Given the description of an element on the screen output the (x, y) to click on. 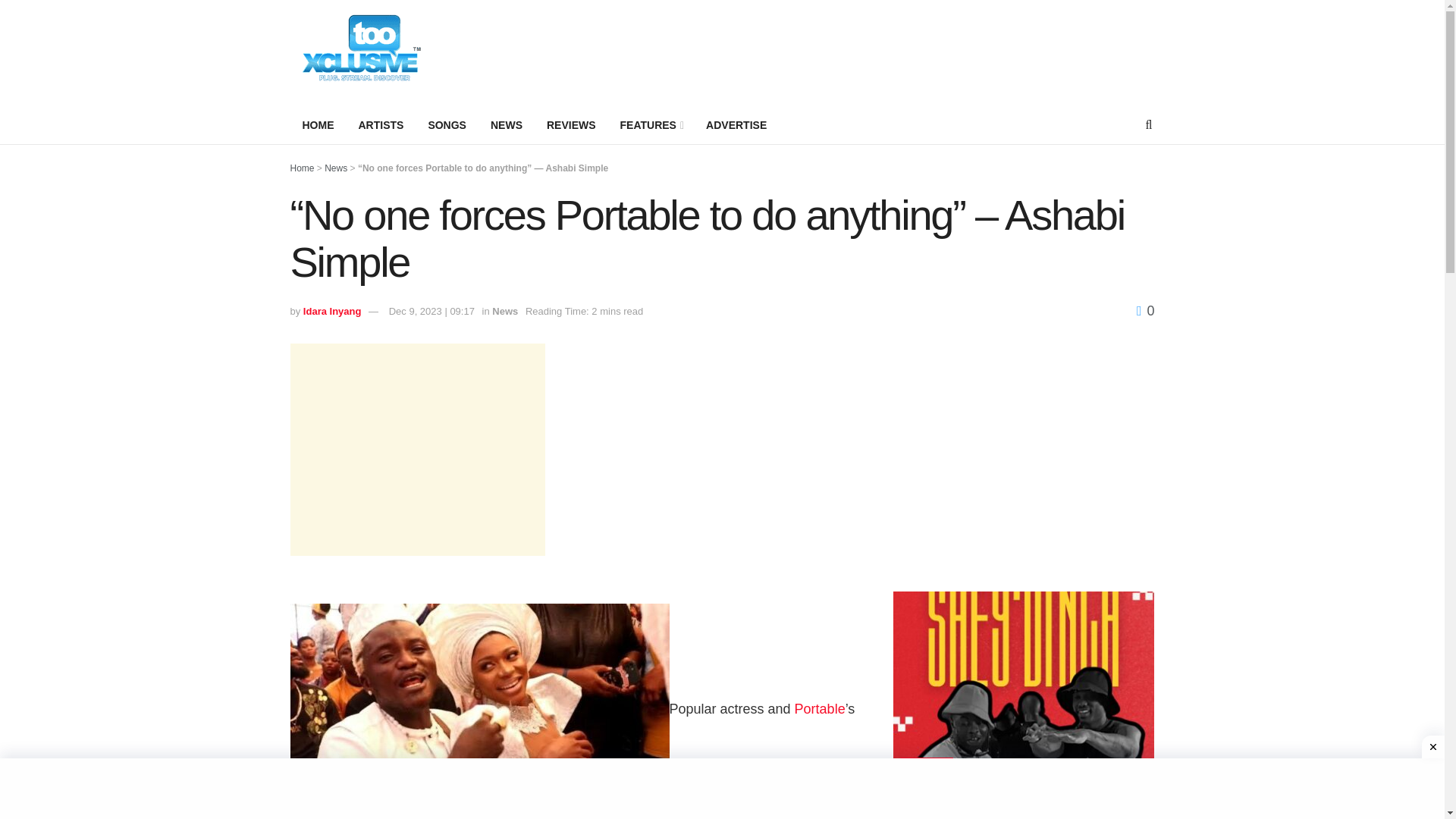
HOME (317, 125)
ADVERTISE (736, 125)
Home (301, 167)
Idara Inyang (331, 310)
Advertisement (1023, 449)
0 (1145, 310)
ARTISTS (380, 125)
News (335, 167)
Advertisement (416, 449)
FEATURES (651, 125)
NEWS (506, 125)
News (505, 310)
Advertisement (878, 50)
SONGS (446, 125)
REVIEWS (571, 125)
